Given the description of an element on the screen output the (x, y) to click on. 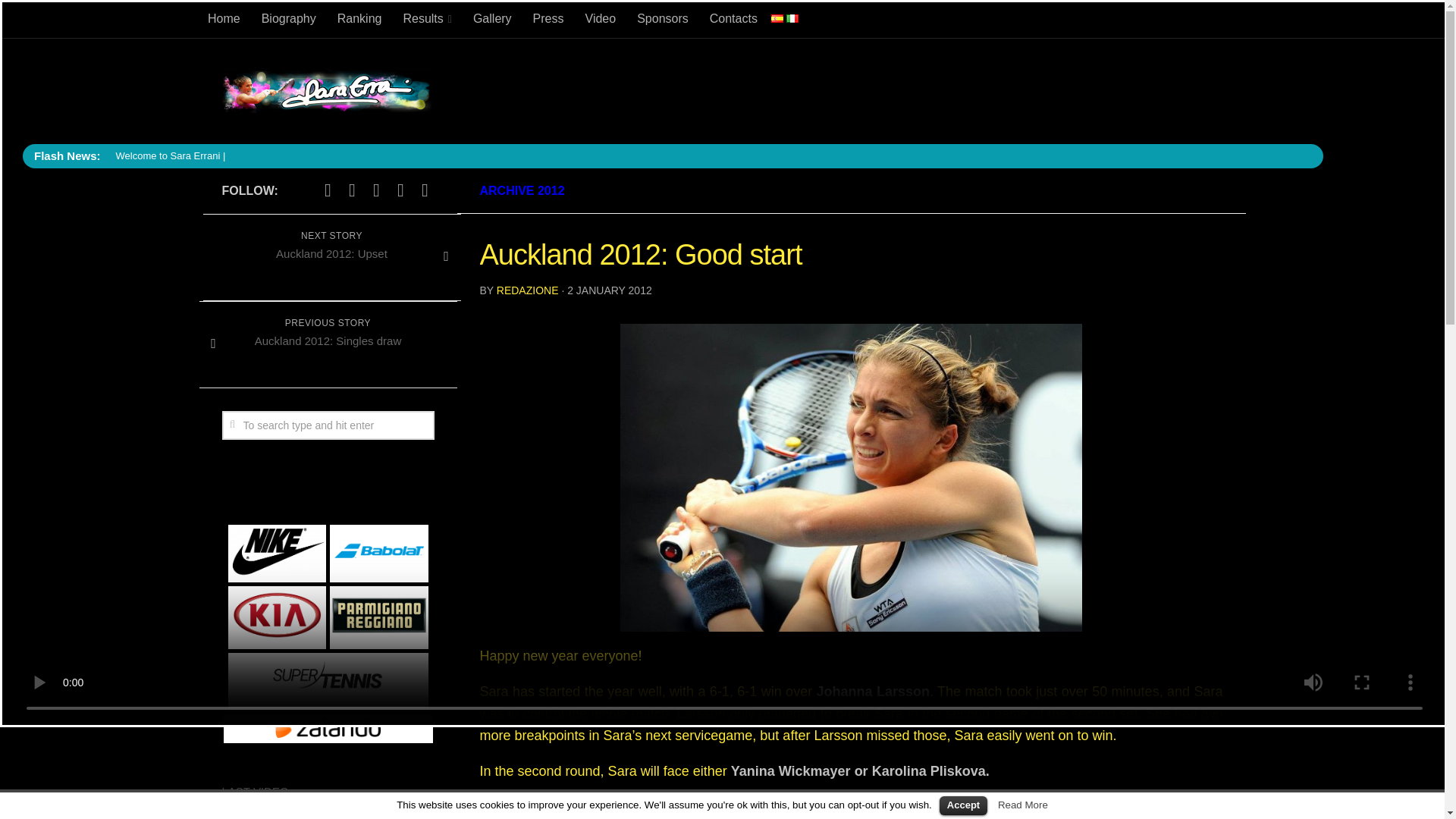
Official Twitter (327, 189)
Instagram (375, 189)
Ranking (359, 18)
Results (426, 18)
REDAZIONE (527, 290)
Video (601, 18)
Home (223, 18)
Sponsors (662, 18)
Posts by redazione (527, 290)
To search type and hit enter (327, 425)
Biography (288, 18)
Weibo (400, 189)
Contacts (733, 18)
Gallery (492, 18)
To search type and hit enter (327, 425)
